Given the description of an element on the screen output the (x, y) to click on. 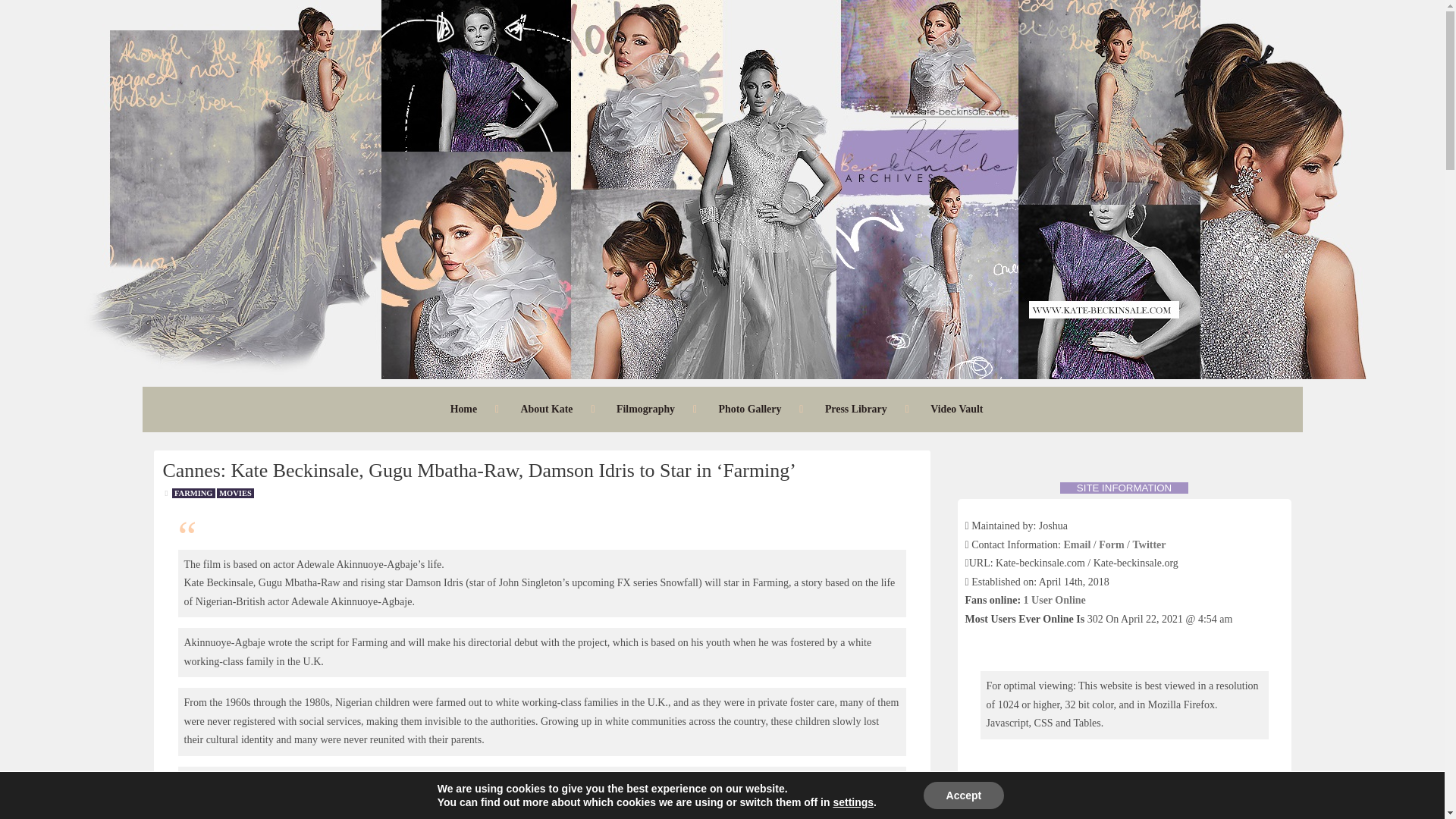
Photo Gallery (750, 408)
Video Vault (956, 408)
Filmography (645, 408)
Form (1111, 544)
Twitter (1149, 544)
Press Library (855, 408)
Email (1076, 544)
Home (463, 408)
1 User Online (1054, 600)
About Kate (547, 408)
